Given the description of an element on the screen output the (x, y) to click on. 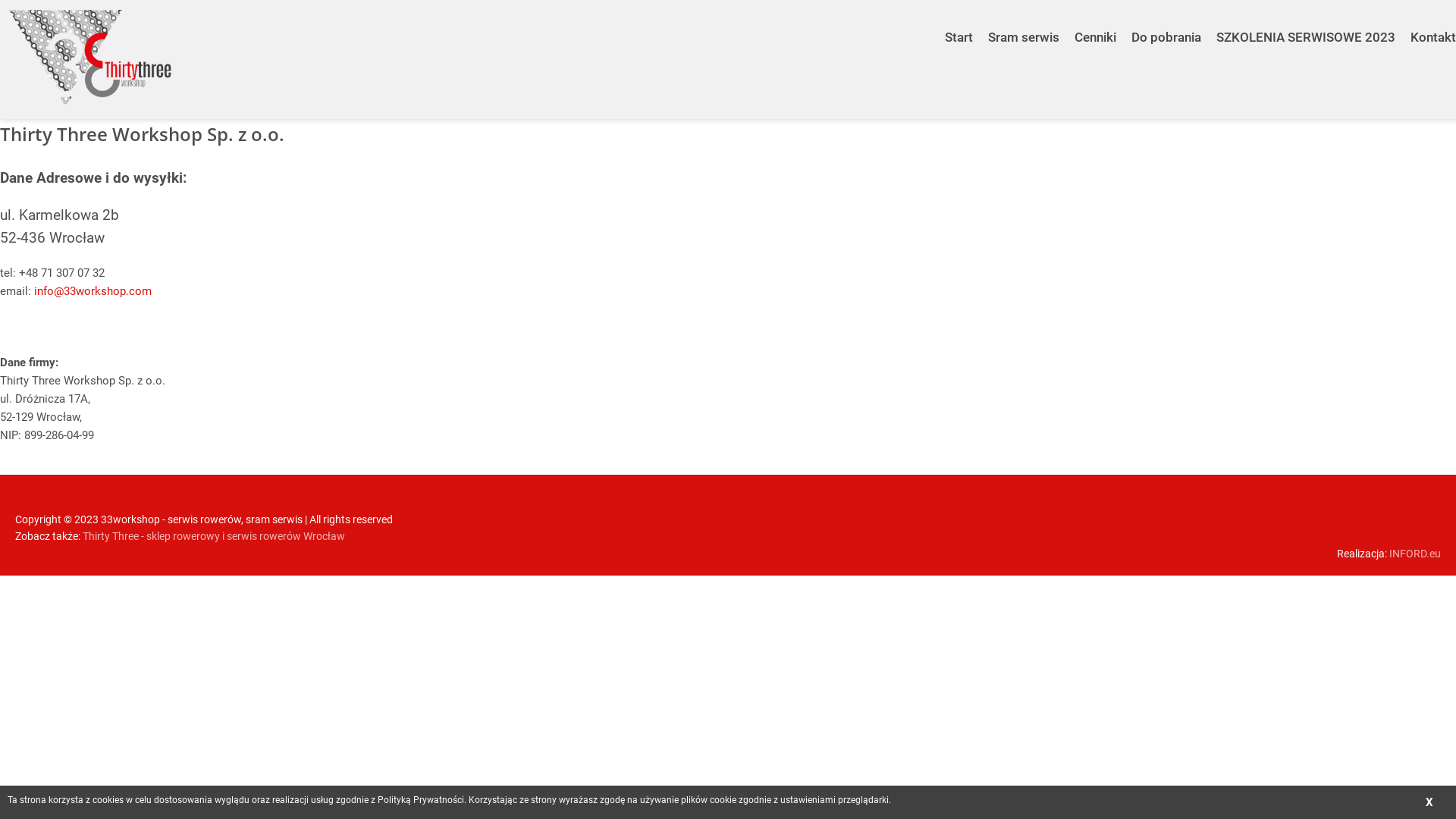
Cenniki Element type: text (1094, 25)
SZKOLENIA SERWISOWE 2023 Element type: text (1305, 25)
Sram serwis Element type: text (1023, 25)
Do pobrania Element type: text (1165, 25)
info@33workshop.com Element type: text (92, 291)
Start Element type: text (958, 25)
INFORD.eu Element type: text (1414, 553)
